Given the description of an element on the screen output the (x, y) to click on. 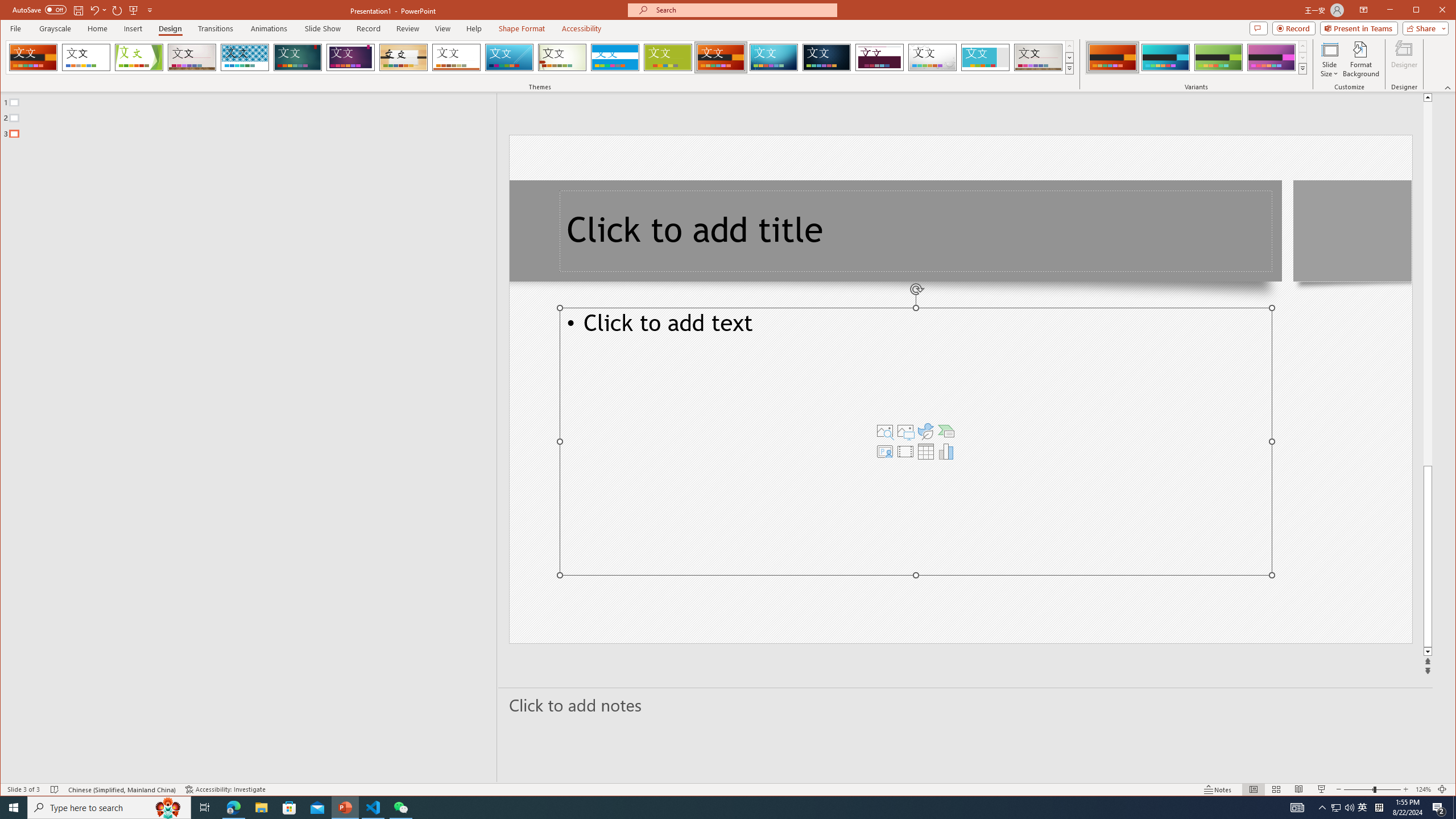
Berlin Variant 3 (1218, 57)
Damask (826, 57)
Ion Boardroom (350, 57)
Berlin (720, 57)
Insert Table (925, 451)
Integral (244, 57)
